Given the description of an element on the screen output the (x, y) to click on. 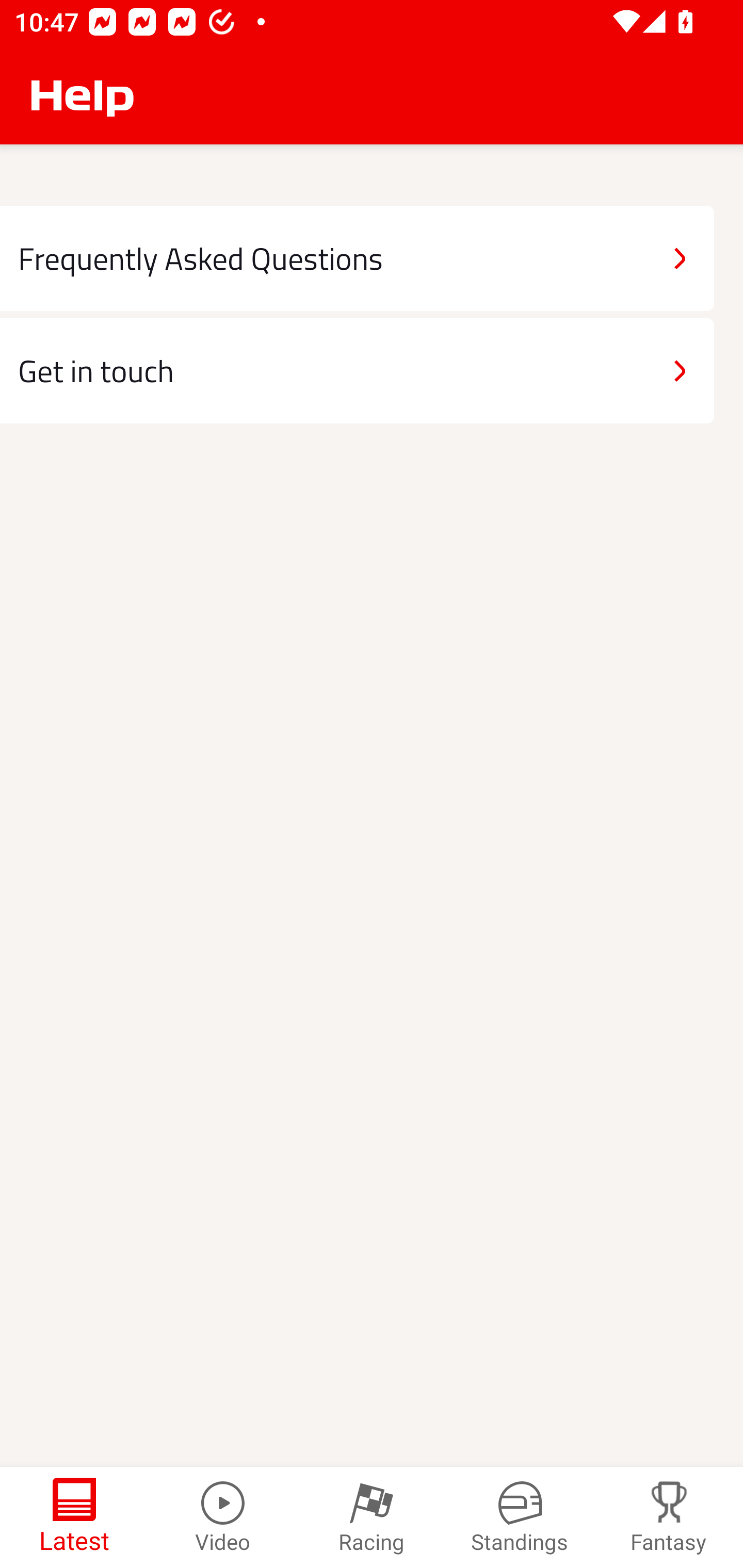
Frequently Asked Questions (357, 257)
Get in touch (357, 370)
Video (222, 1517)
Racing (371, 1517)
Standings (519, 1517)
Fantasy (668, 1517)
